Given the description of an element on the screen output the (x, y) to click on. 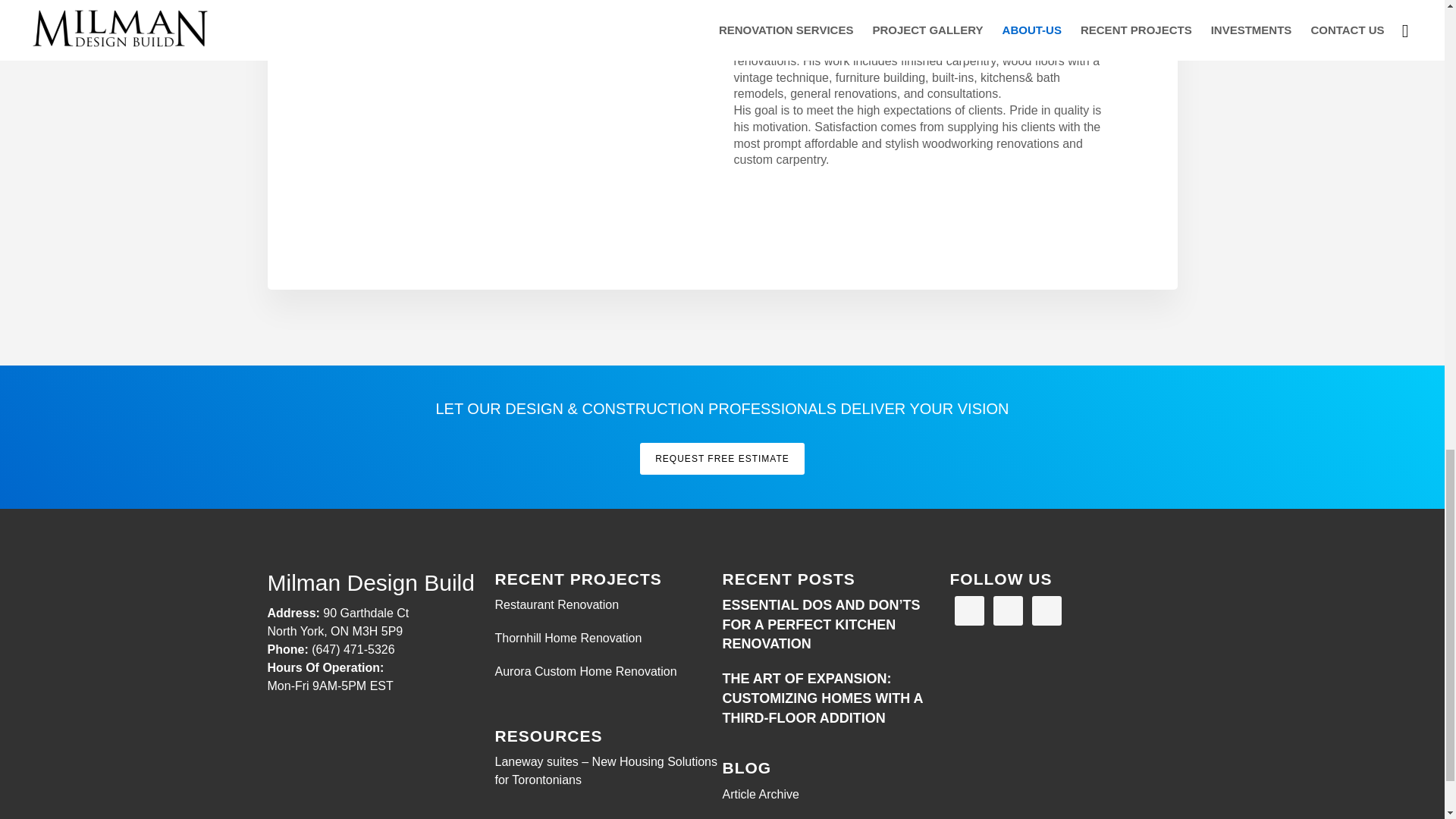
commercial (890, 27)
Article Archive (759, 793)
Thornhill Home Renovation (568, 637)
Aurora Custom Home Renovation (586, 671)
REQUEST FREE ESTIMATE (722, 459)
Restaurant Renovation (556, 604)
